Given the description of an element on the screen output the (x, y) to click on. 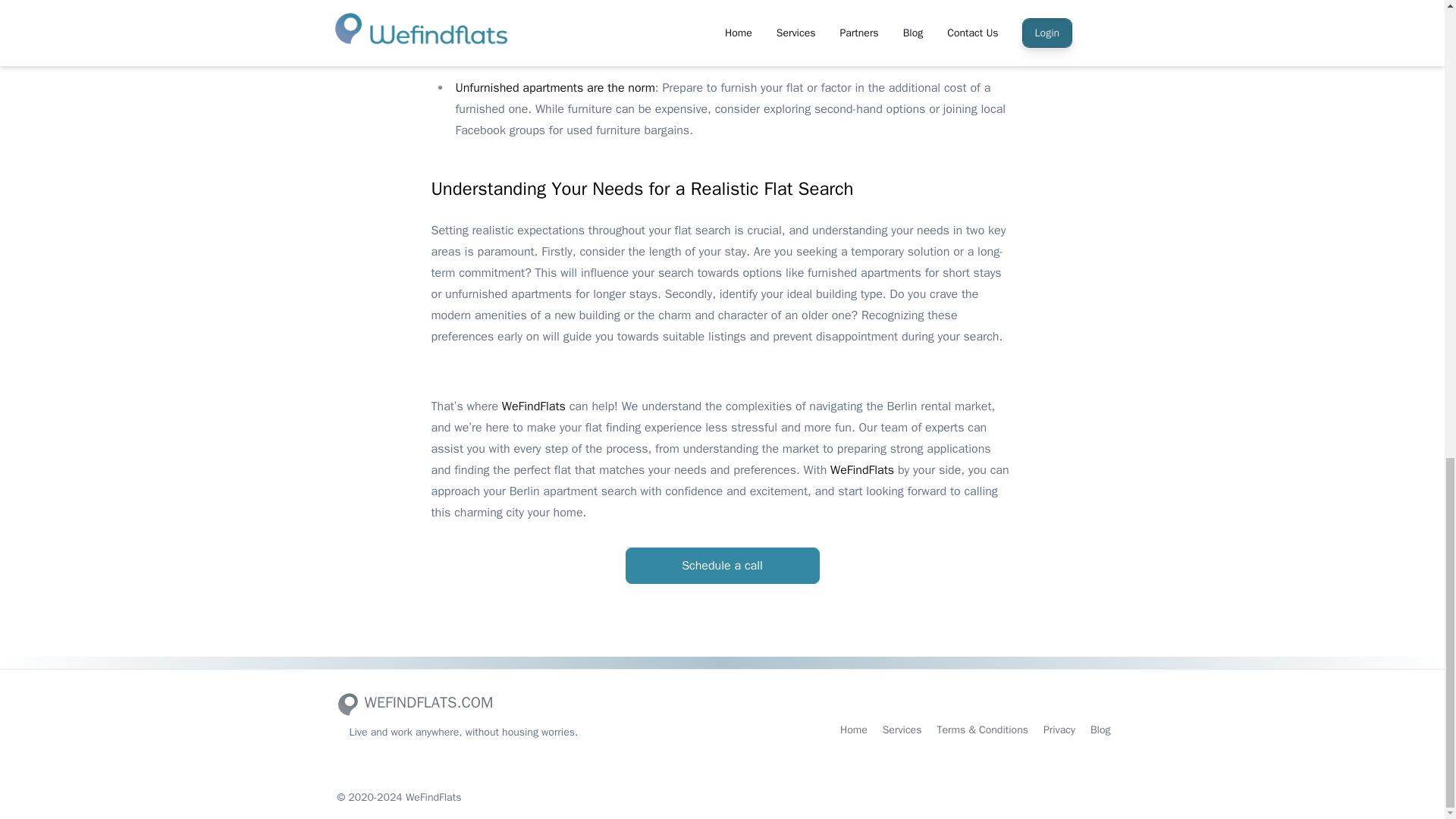
Schedule a call (721, 565)
Privacy (1059, 730)
Services (901, 730)
Blog (1100, 730)
Home (853, 730)
